Given the description of an element on the screen output the (x, y) to click on. 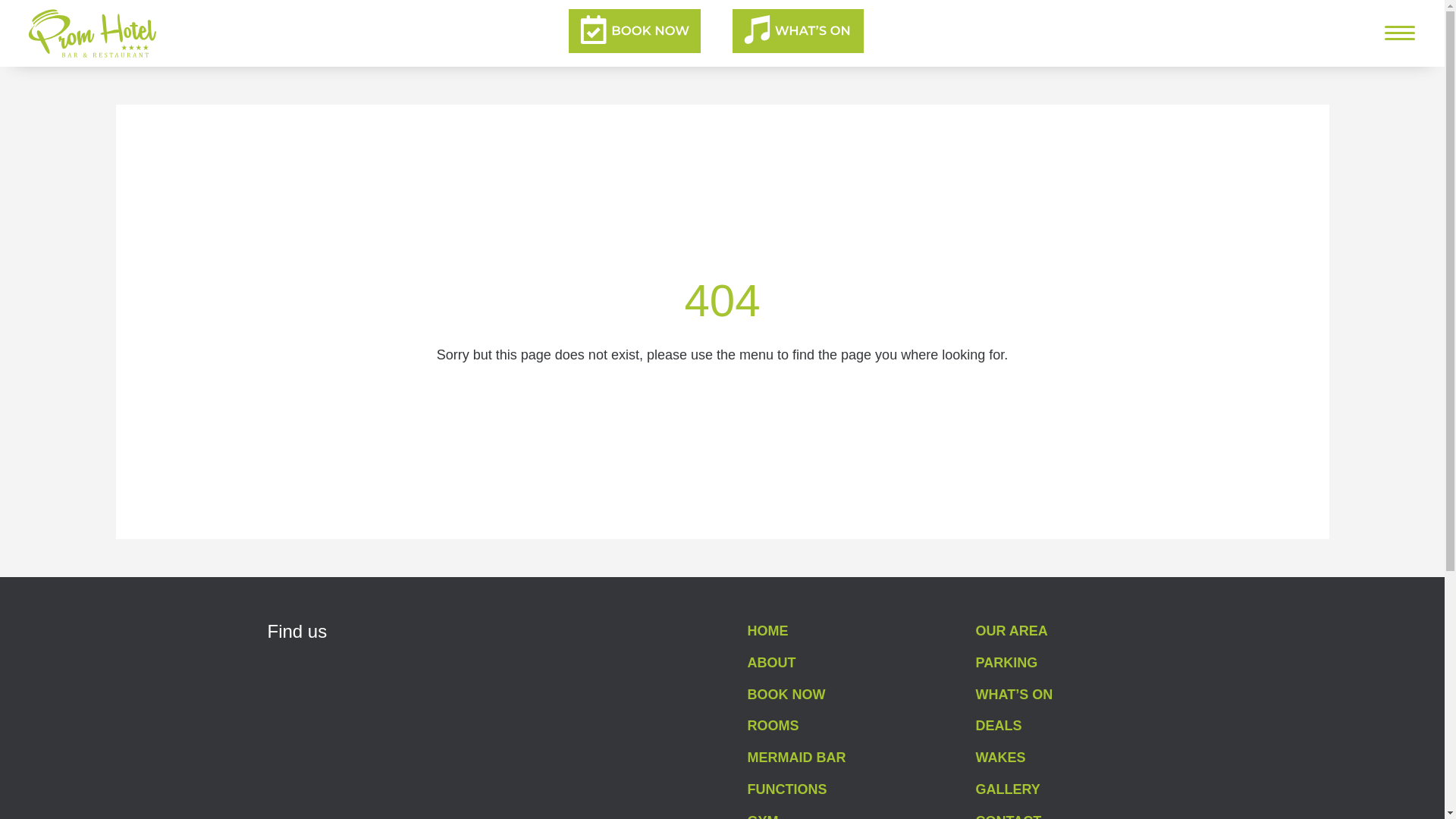
MERMAID BAR (796, 757)
FUNCTIONS (787, 789)
CONTACT (1008, 816)
OUR AREA (1011, 630)
HOME (768, 630)
Prom Logo Colour (92, 33)
whats-on (797, 31)
BOOK NOW (786, 694)
PARKING (1006, 662)
book-now (634, 31)
ROOMS (773, 725)
GALLERY (1008, 789)
GYM (763, 816)
DEALS (998, 725)
ABOUT (772, 662)
